Given the description of an element on the screen output the (x, y) to click on. 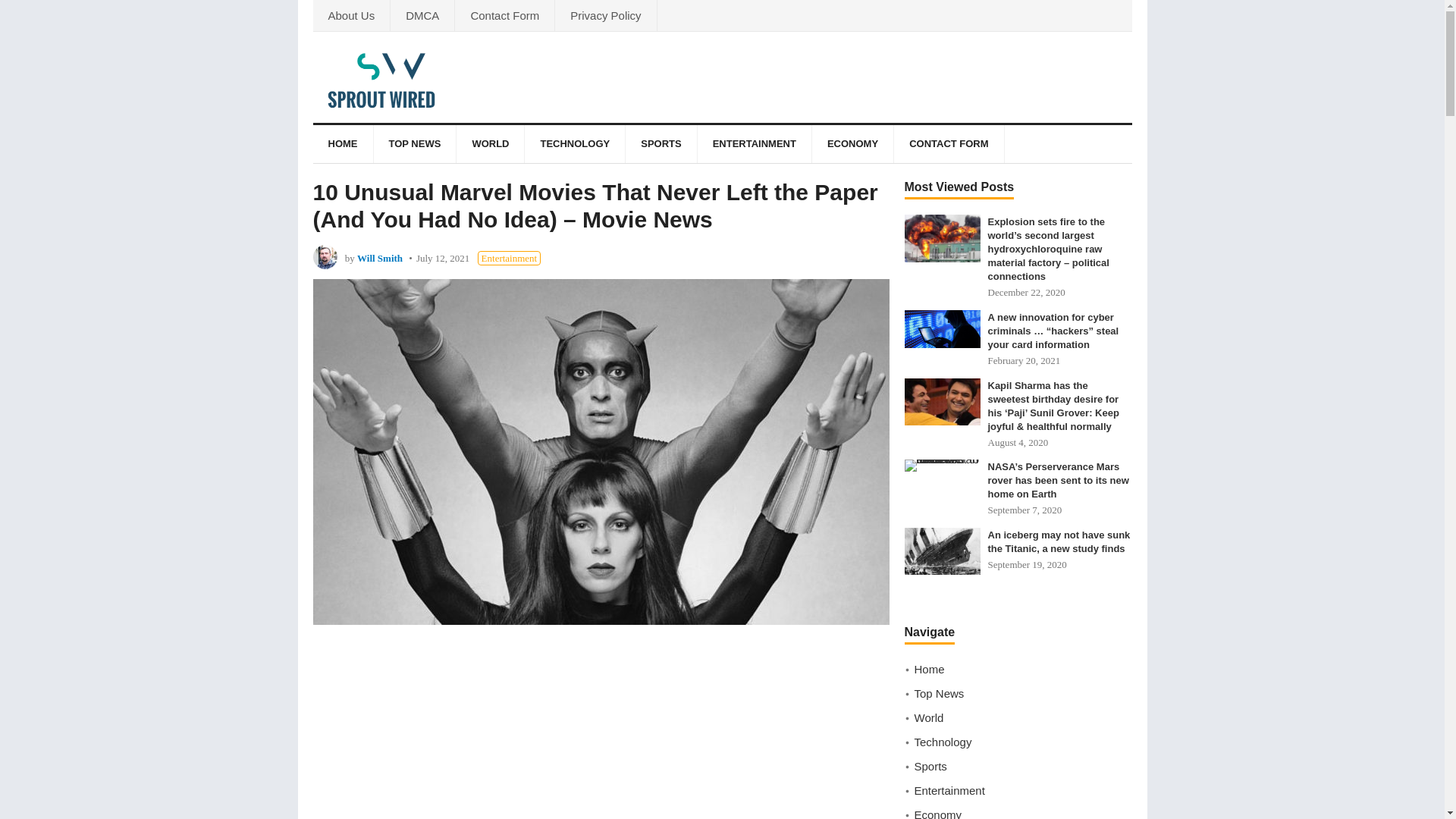
TECHNOLOGY (574, 143)
Advertisement (600, 732)
DMCA (422, 15)
Entertainment (509, 257)
CONTACT FORM (948, 143)
Posts by Will Smith (379, 257)
About Us (351, 15)
ENTERTAINMENT (753, 143)
Privacy Policy (605, 15)
TOP NEWS (413, 143)
